Given the description of an element on the screen output the (x, y) to click on. 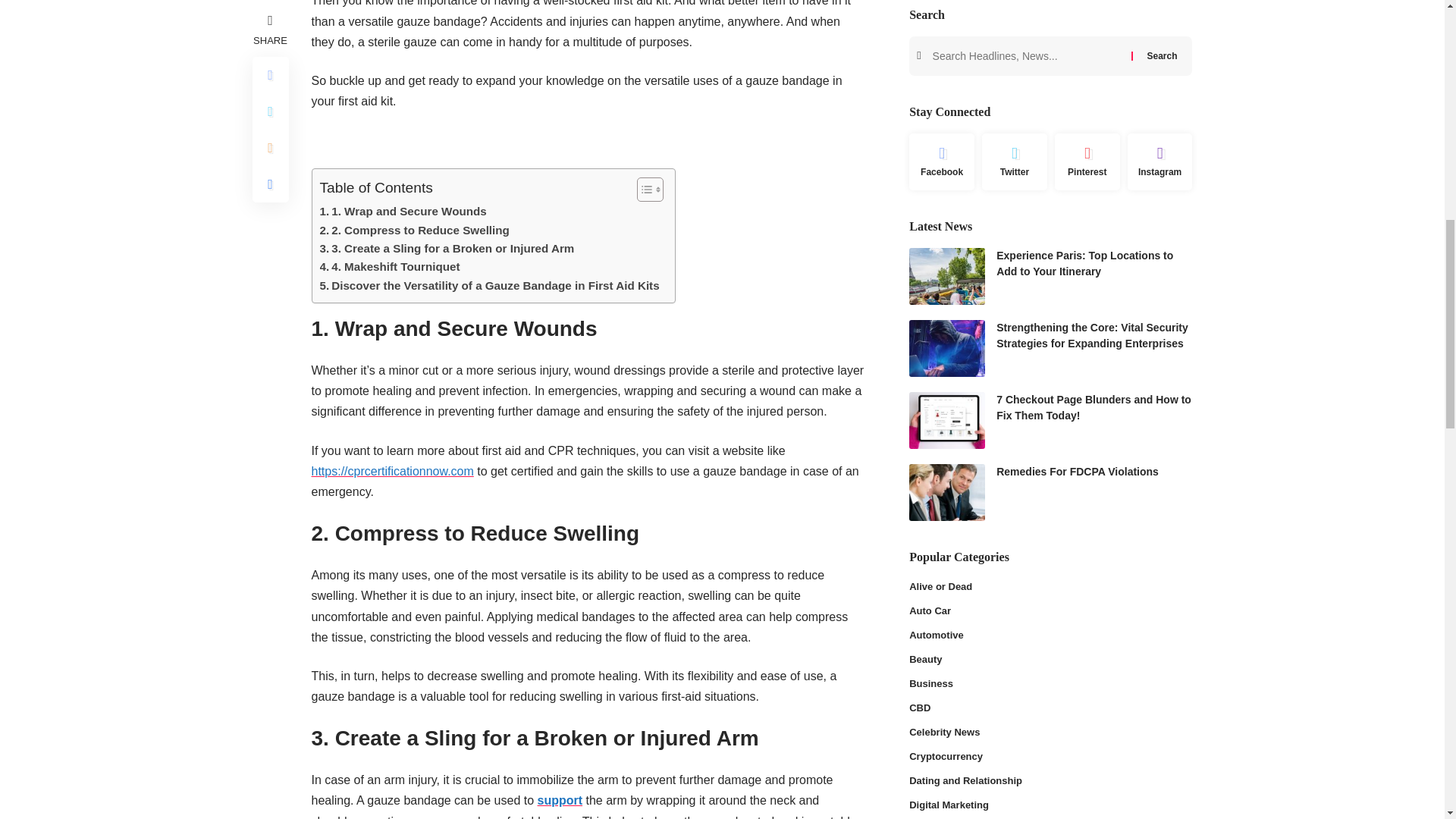
1. Wrap and Secure Wounds (403, 211)
4. Makeshift Tourniquet (390, 266)
3. Create a Sling for a Broken or Injured Arm (447, 248)
2. Compress to Reduce Swelling (414, 230)
